Given the description of an element on the screen output the (x, y) to click on. 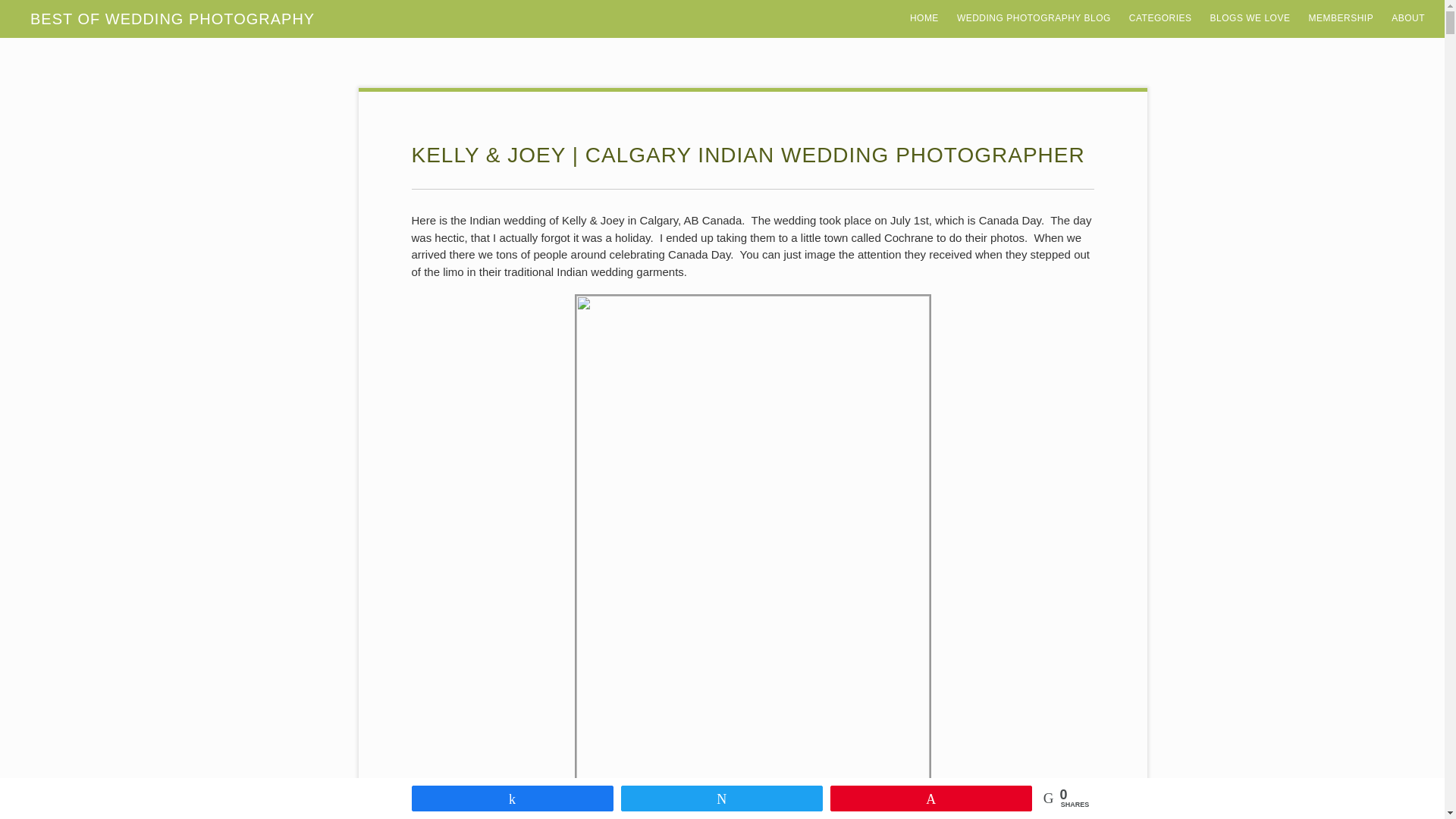
HOME (924, 3)
Best of Wedding Photography (1033, 3)
WEDDING PHOTOGRAPHY BLOG (1033, 3)
CATEGORIES (1160, 3)
